Given the description of an element on the screen output the (x, y) to click on. 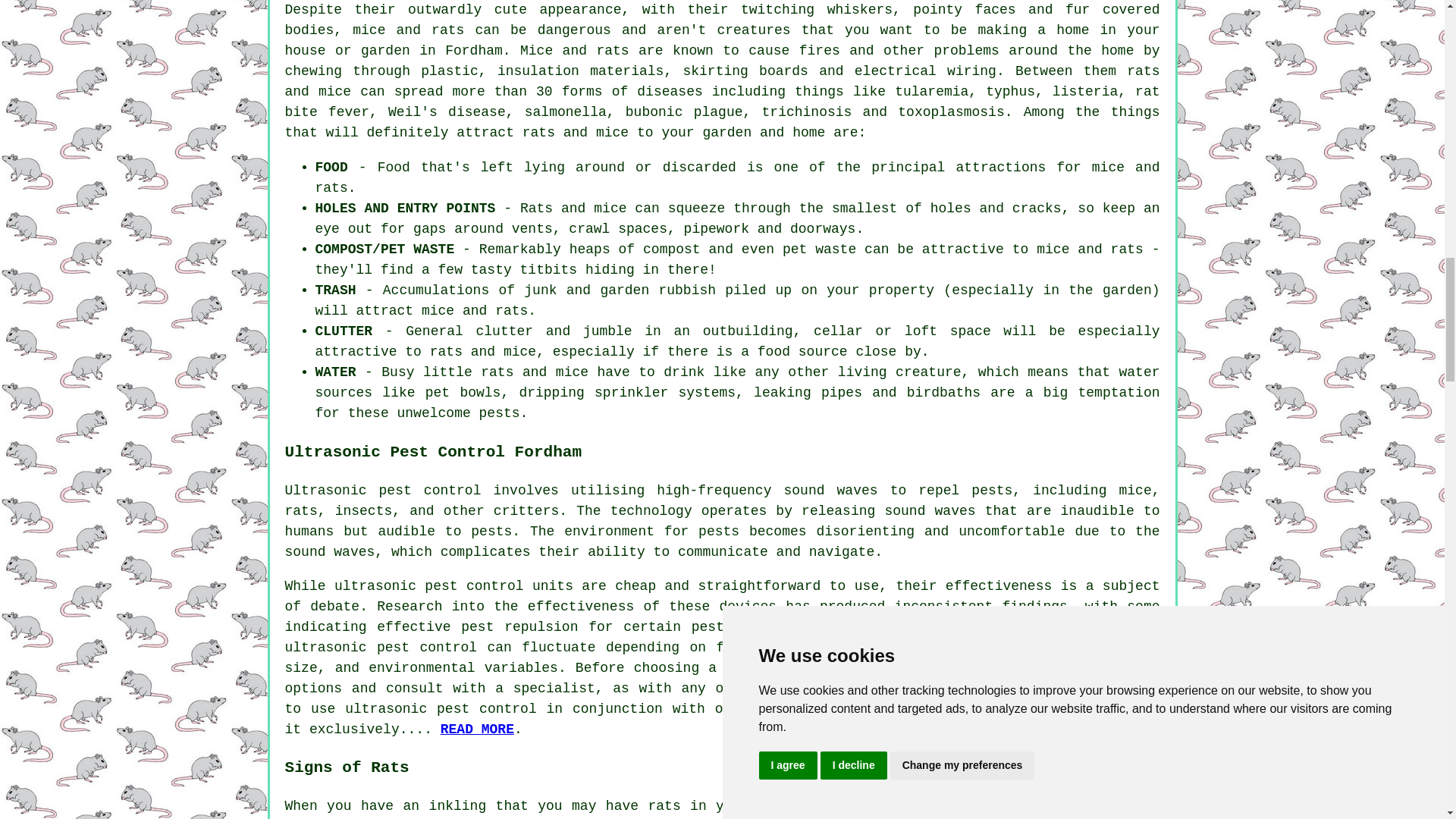
ultrasonic pest control (381, 647)
Ultrasonic Pest Control (477, 729)
